Given the description of an element on the screen output the (x, y) to click on. 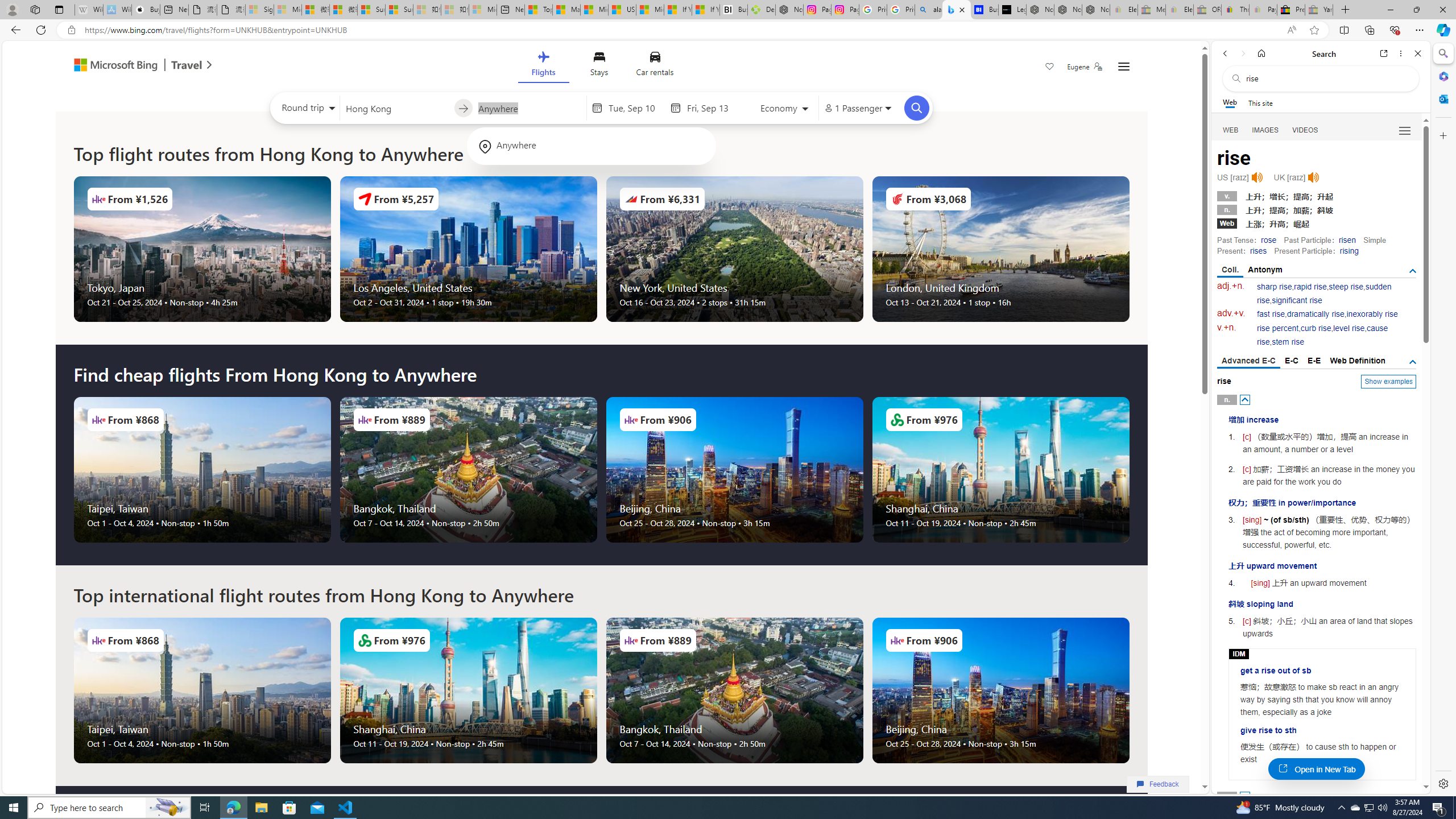
AutomationID: tgsb (1412, 270)
Select class of service (784, 109)
Leaving from? (396, 107)
Save (1049, 67)
